Given the description of an element on the screen output the (x, y) to click on. 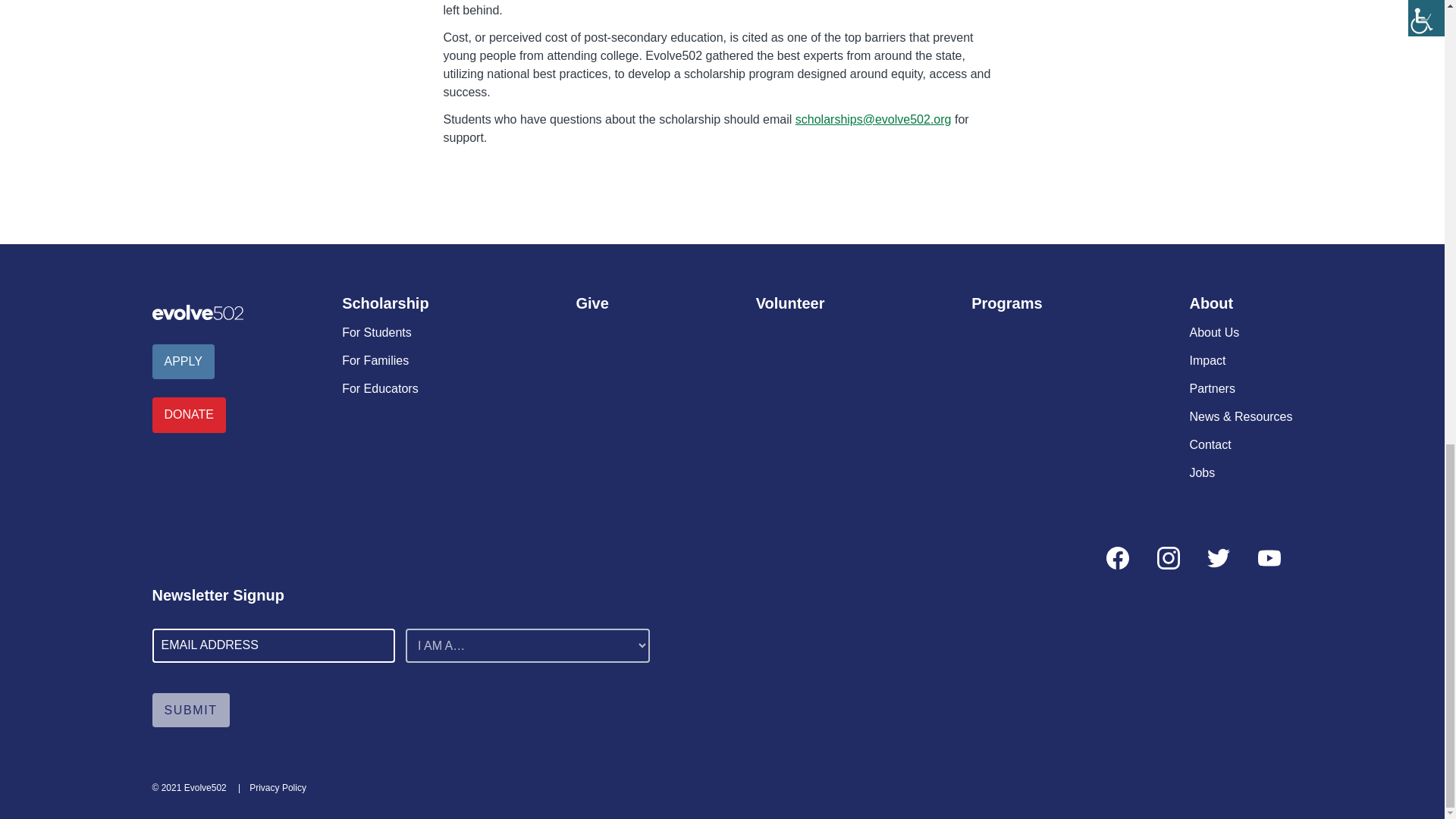
Twitter (1218, 558)
Instagram (1168, 558)
YouTube (1268, 558)
Submit (189, 710)
Facebook (1117, 558)
